Given the description of an element on the screen output the (x, y) to click on. 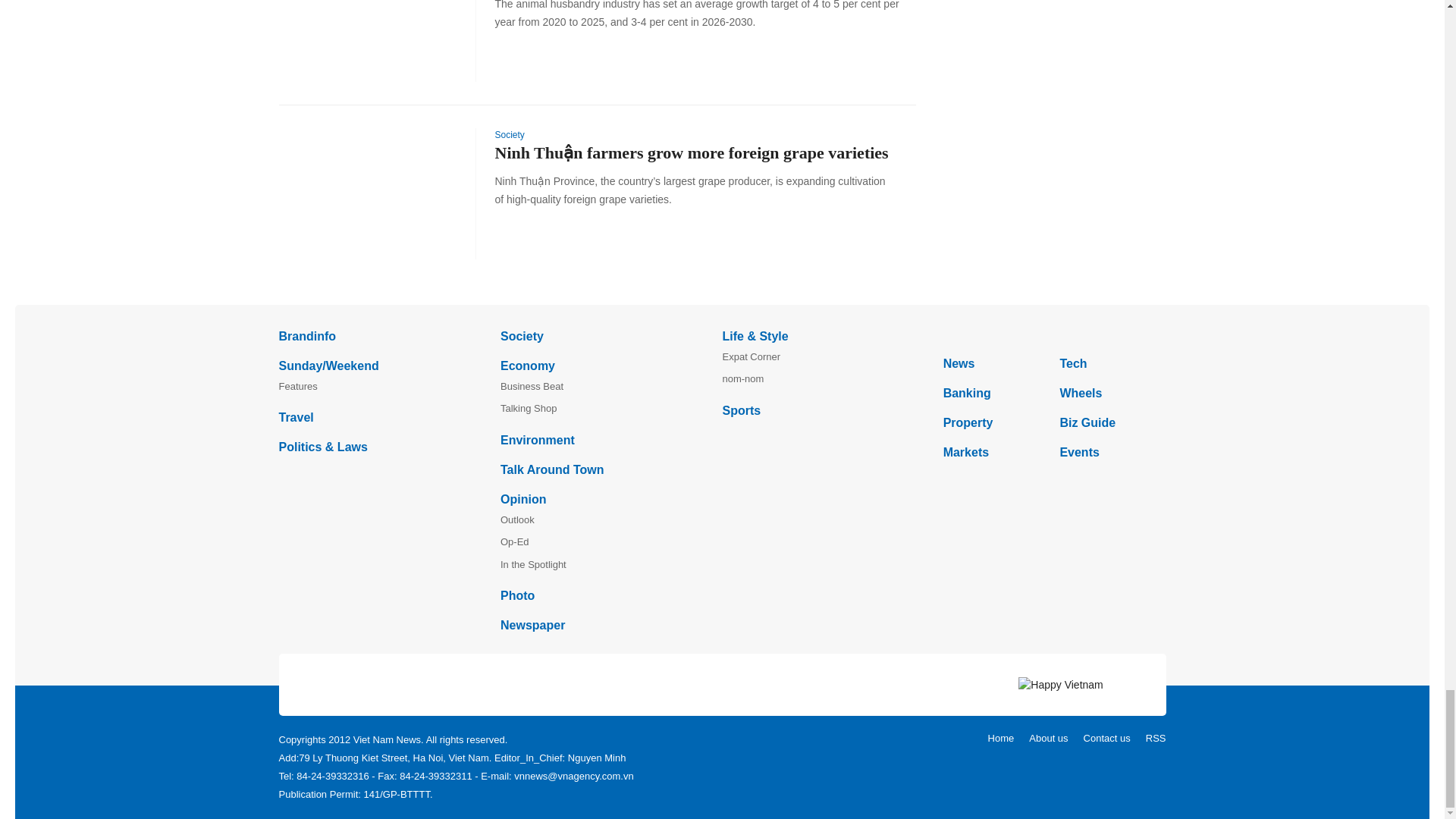
bizhub (1054, 335)
